Given the description of an element on the screen output the (x, y) to click on. 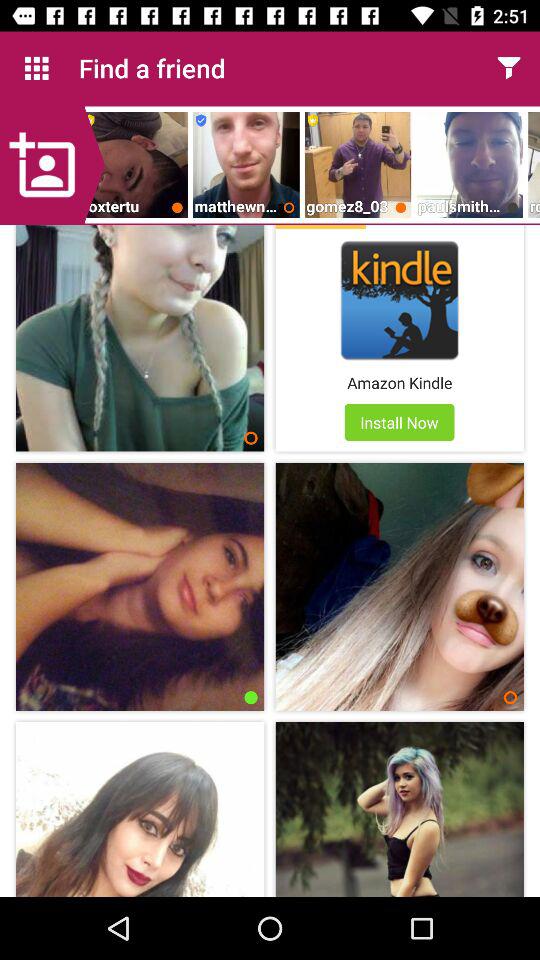
advertisement link button (399, 300)
